Given the description of an element on the screen output the (x, y) to click on. 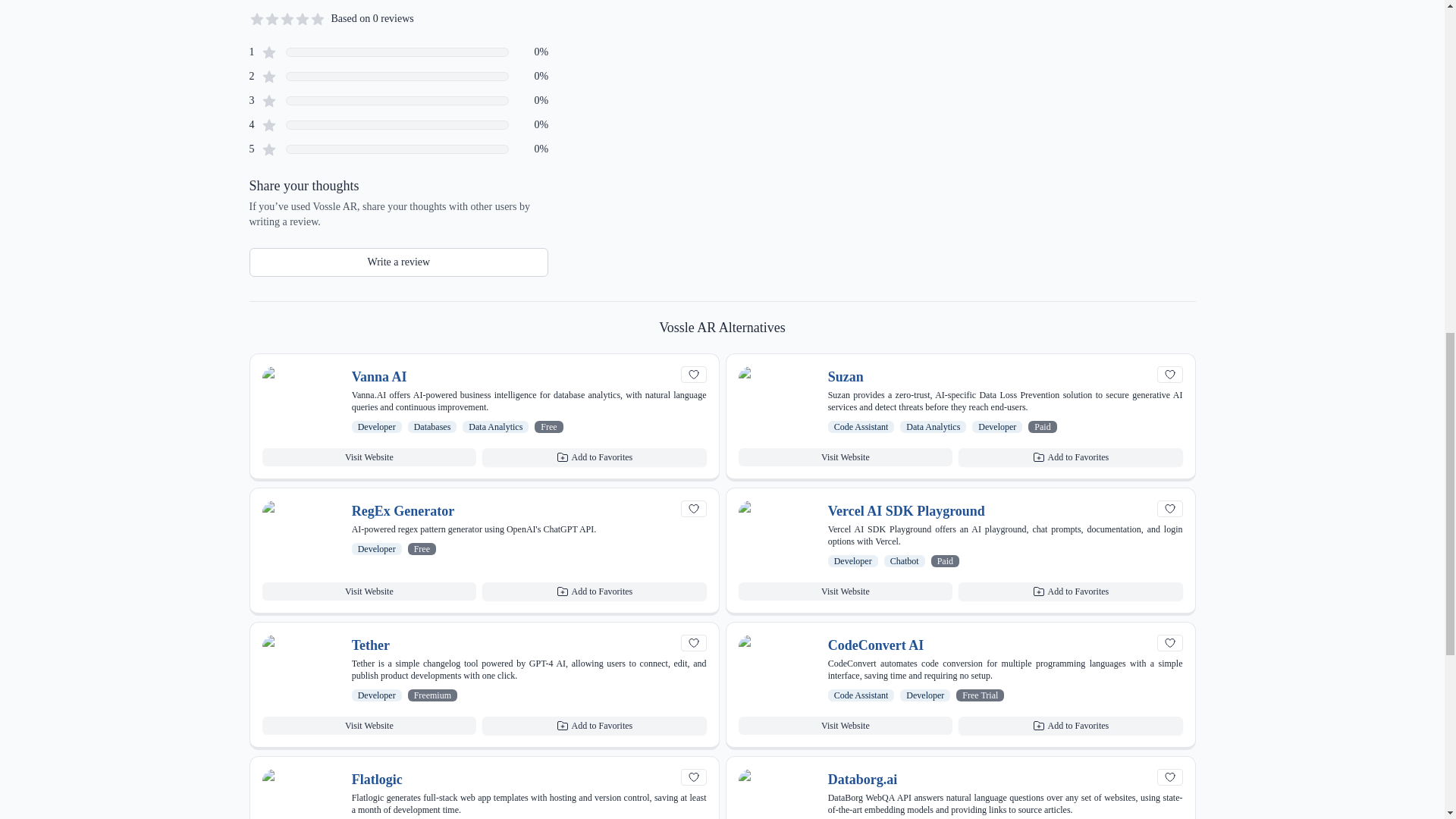
Data Analytics (495, 426)
Developer (377, 426)
Vanna AI (379, 376)
Write a review (398, 262)
Databases (432, 426)
